Given the description of an element on the screen output the (x, y) to click on. 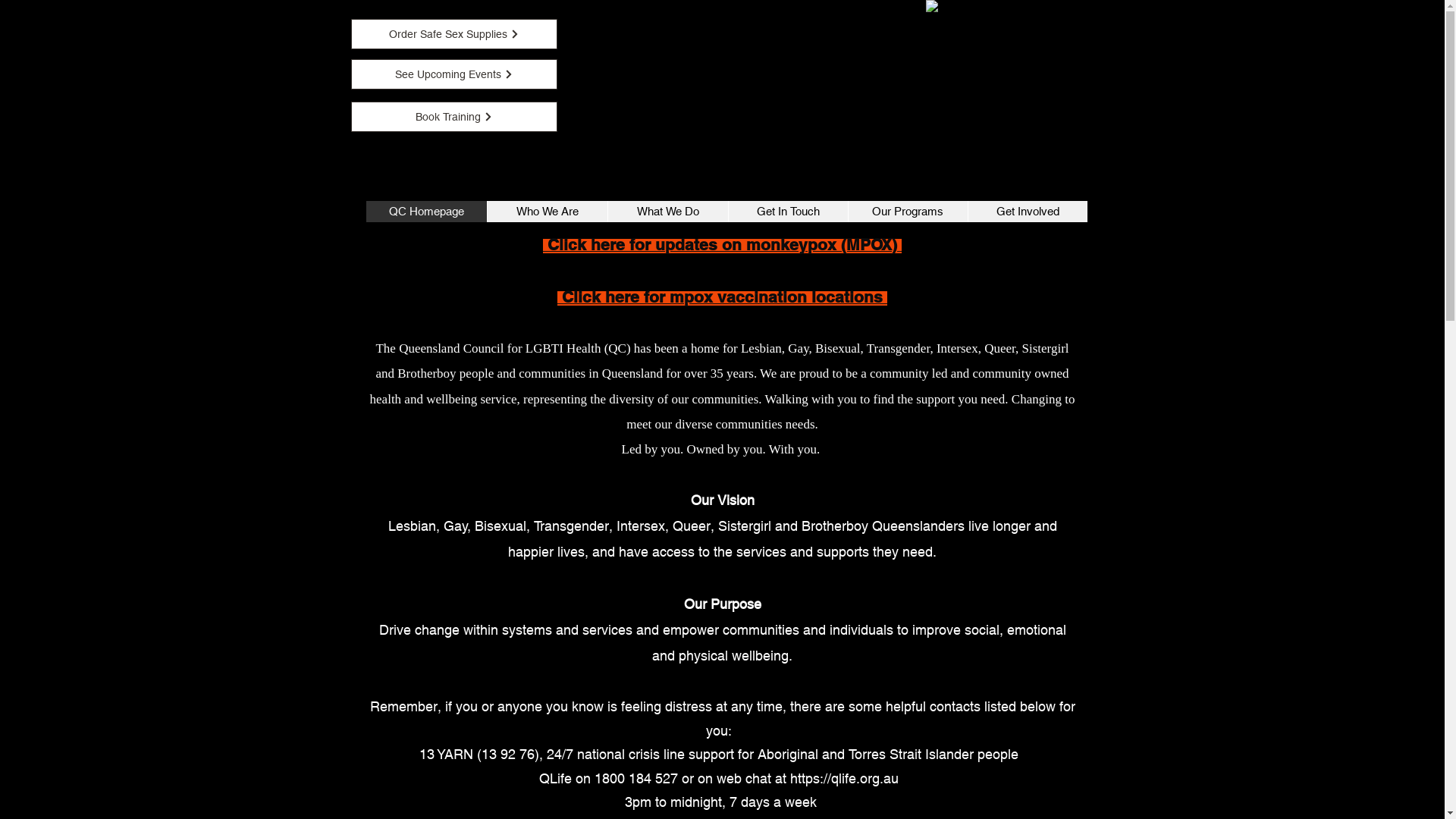
Our Programs Element type: text (907, 211)
 Click here for updates on monkeypox (MPOX)  Element type: text (721, 245)
QC Homepage Element type: text (425, 211)
 Click here for mpox vaccination locations  Element type: text (722, 297)
See Upcoming Events Element type: text (453, 74)
Book Training Element type: text (453, 116)
Order Safe Sex Supplies Element type: text (453, 33)
https://qlife.org.au Element type: text (844, 778)
